Given the description of an element on the screen output the (x, y) to click on. 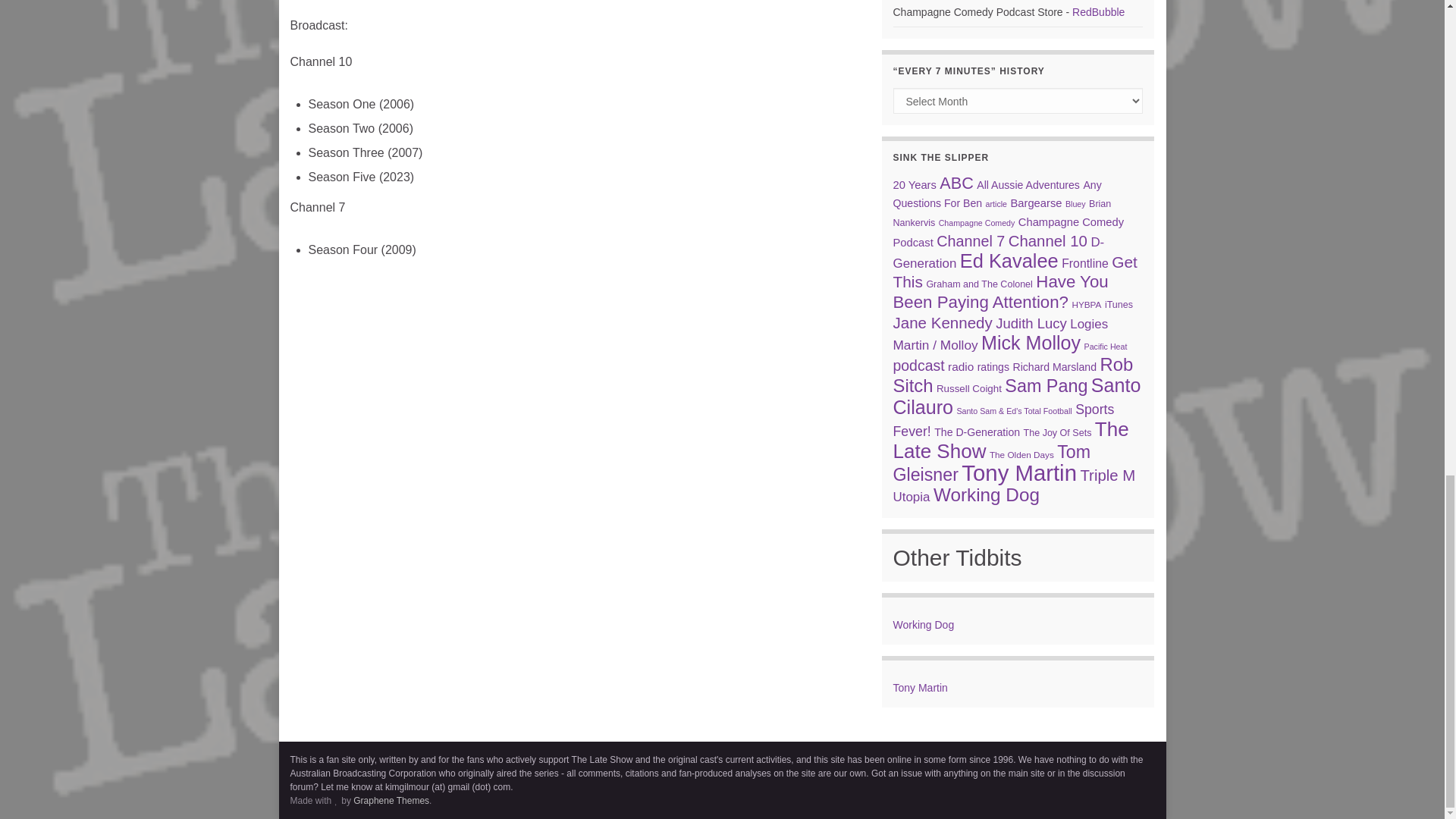
Working Dog - Official site (924, 624)
Tony Martin - Official Site (920, 687)
